Given the description of an element on the screen output the (x, y) to click on. 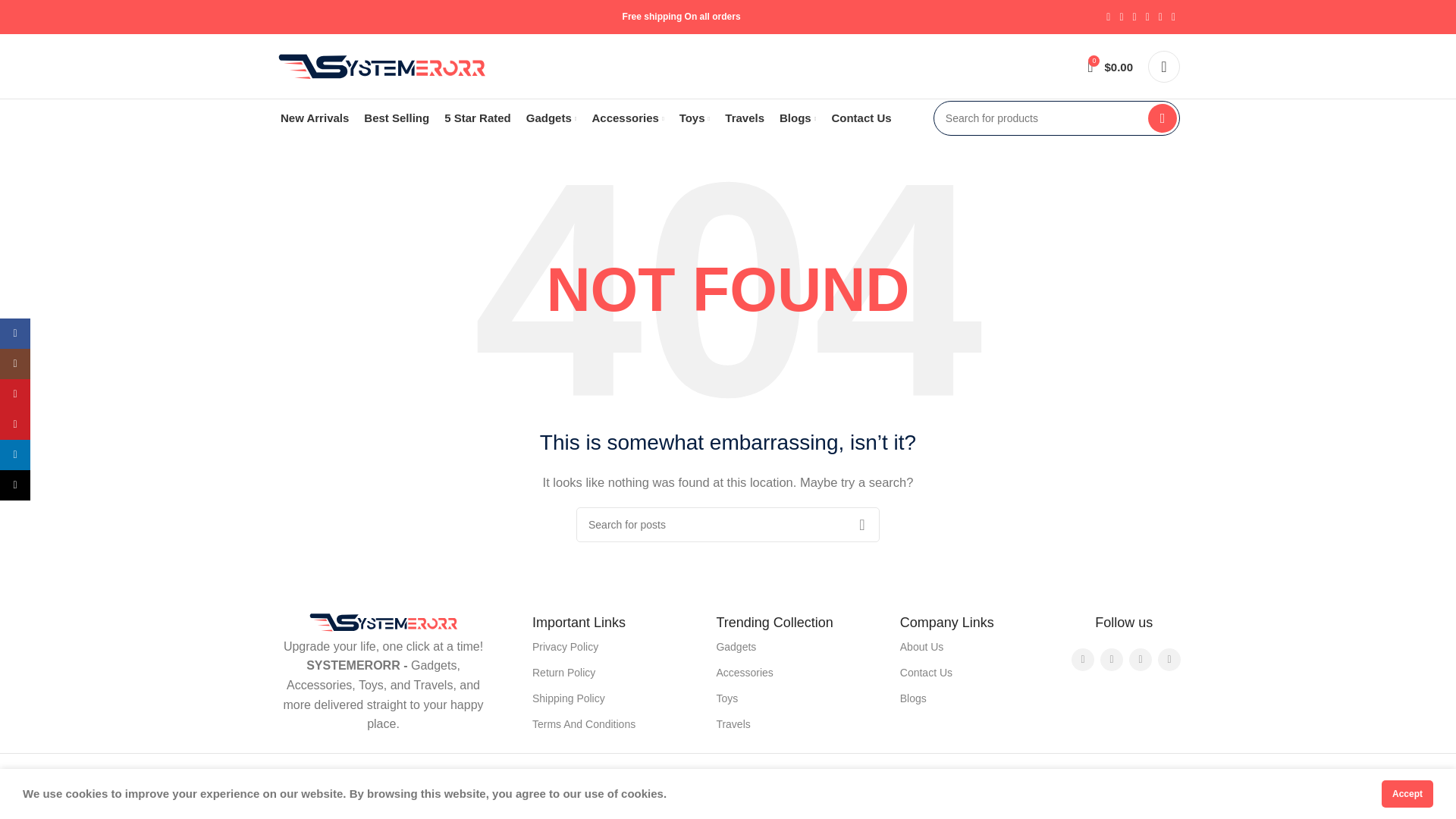
Contact Us (861, 118)
Search for posts (727, 524)
Accessories (627, 118)
Travels (744, 118)
Shopping cart (1110, 66)
Search (861, 524)
5 Star Rated (477, 118)
Best Selling (396, 118)
systemerorr- ogo (383, 622)
New Arrivals (315, 118)
Gadgets (550, 118)
Toys (694, 118)
Search for products (1056, 117)
My account (1164, 66)
Search (1162, 118)
